Given the description of an element on the screen output the (x, y) to click on. 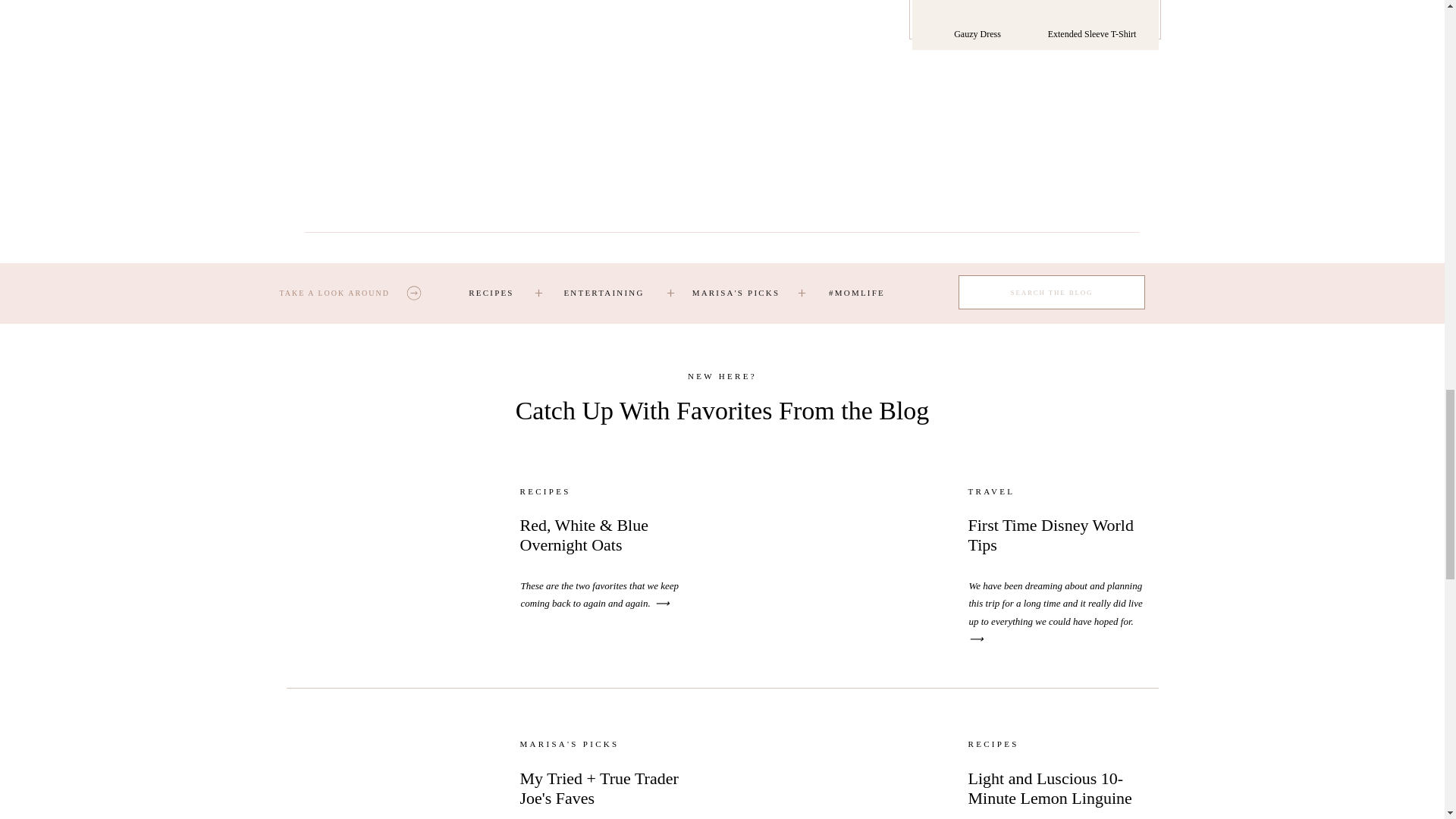
ENTERTAINING (603, 293)
RECIPES (491, 293)
MARISA'S PICKS (735, 293)
